Given the description of an element on the screen output the (x, y) to click on. 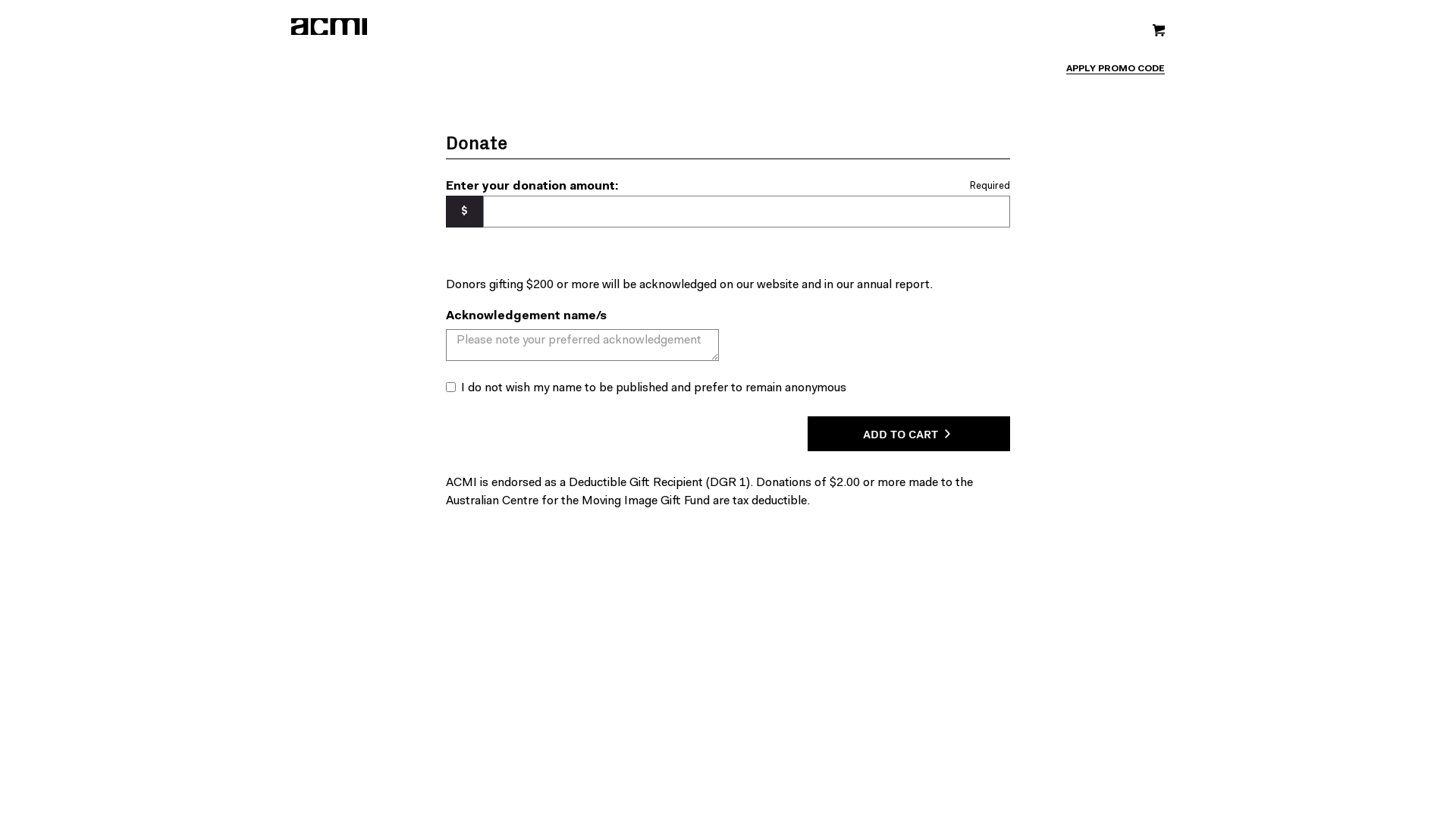
APPLY PROMO CODE Element type: text (1115, 69)
ACMI Element type: text (655, 26)
ADD TO CART Element type: text (908, 433)
